Given the description of an element on the screen output the (x, y) to click on. 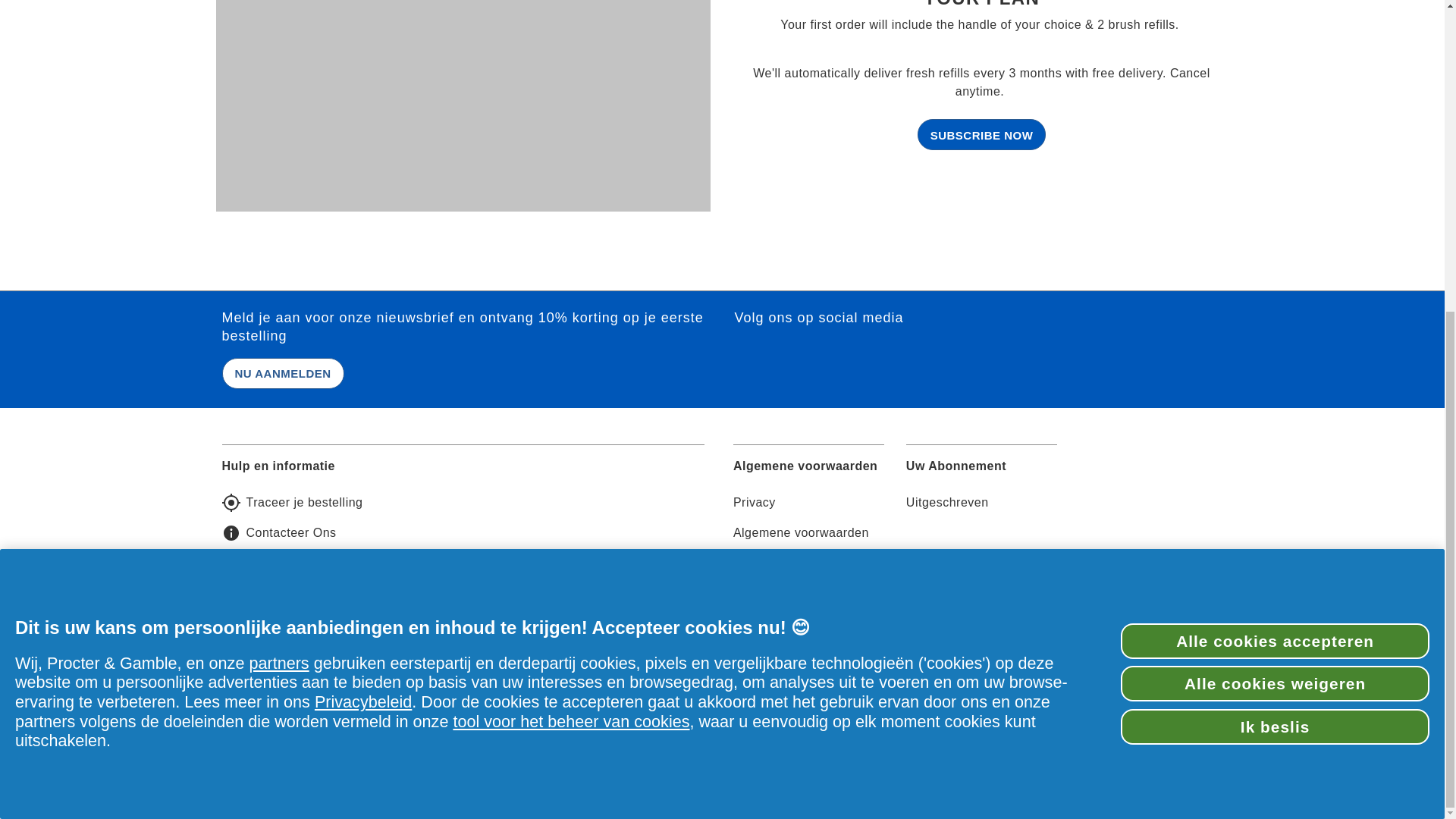
PayPal (901, 775)
Mastercard (853, 775)
Visa (805, 775)
Visa Electron (755, 775)
